Given the description of an element on the screen output the (x, y) to click on. 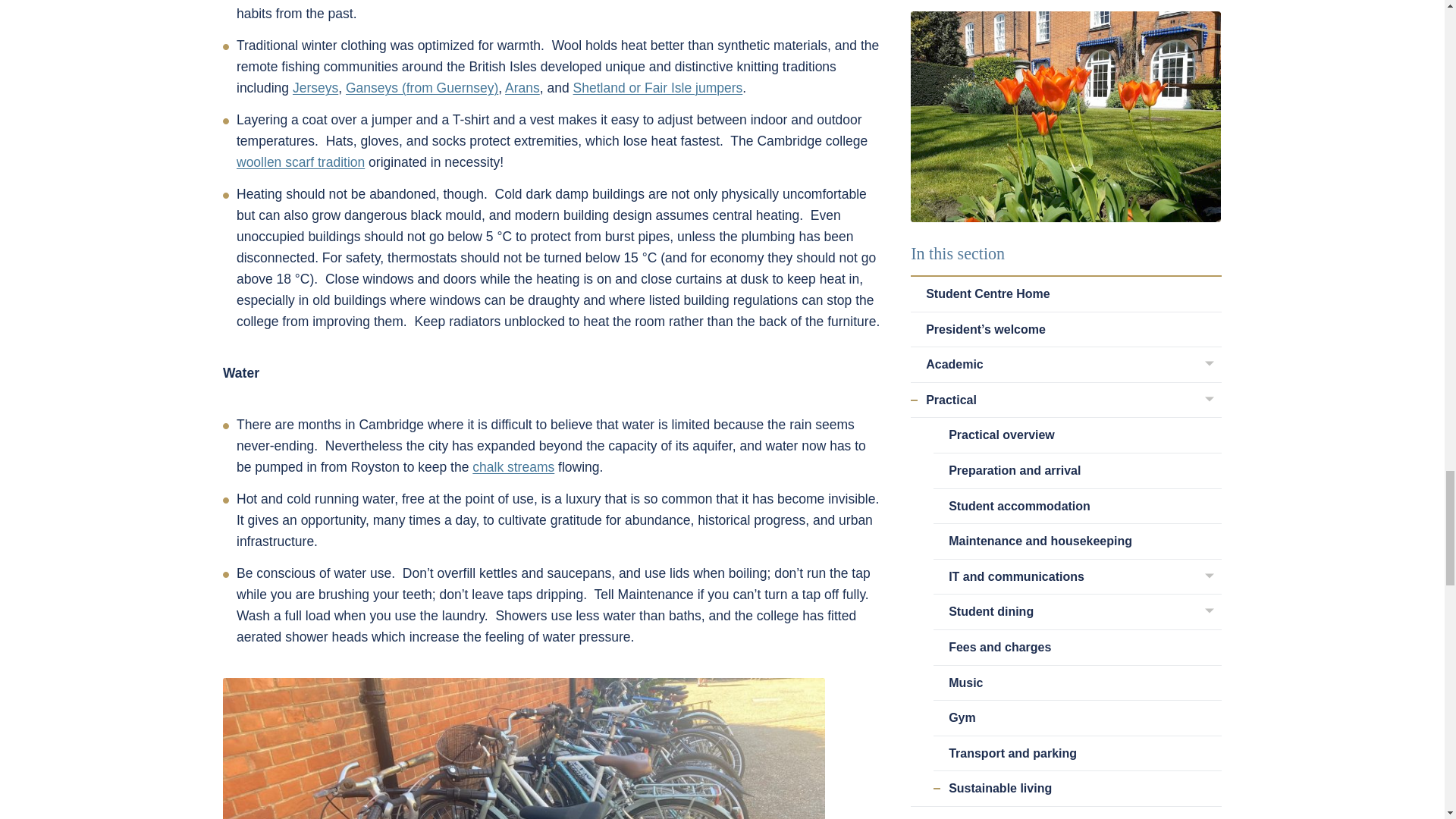
Bikes - Hughes Hall (523, 748)
